Given the description of an element on the screen output the (x, y) to click on. 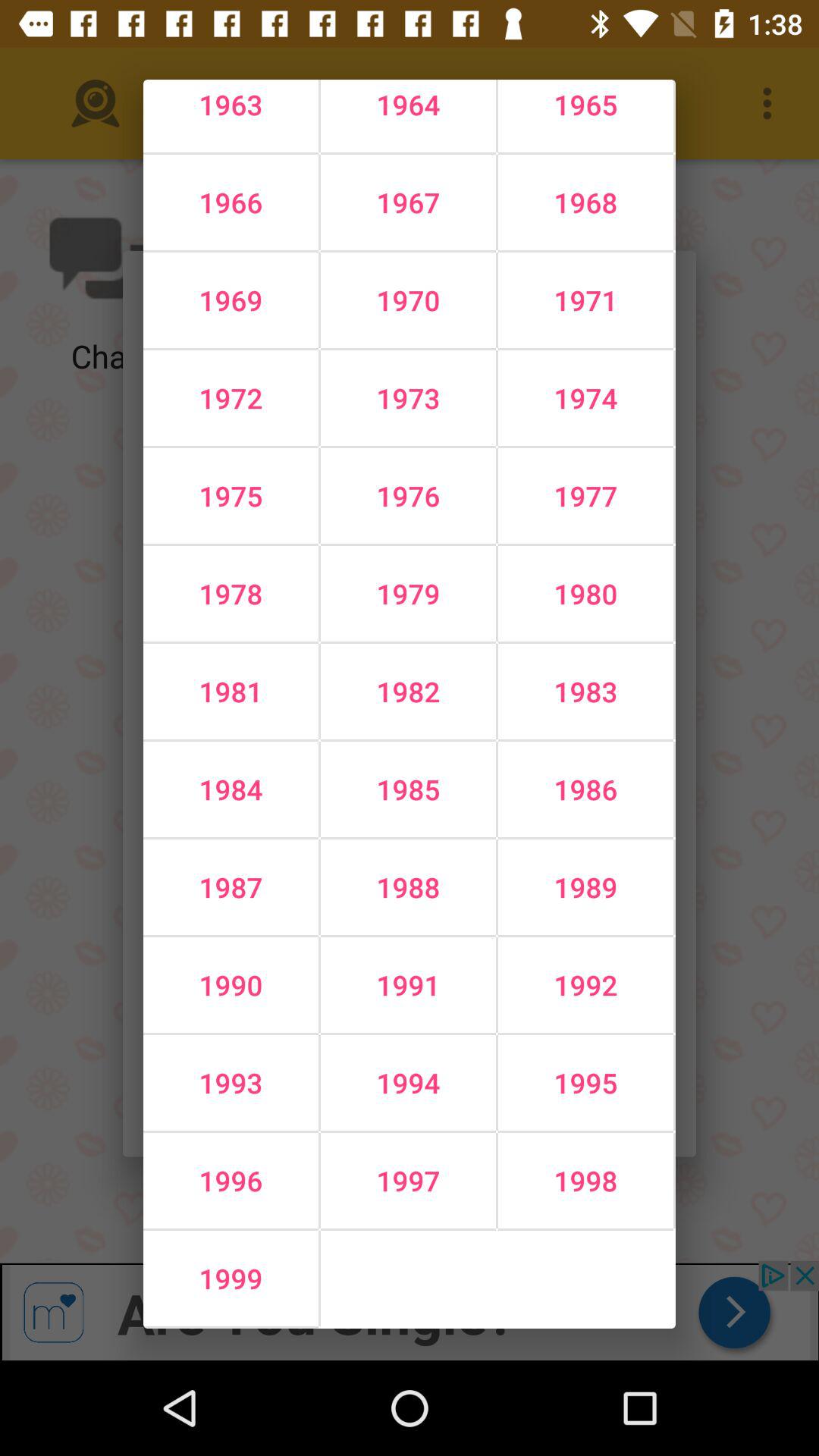
choose 1988 icon (407, 887)
